Given the description of an element on the screen output the (x, y) to click on. 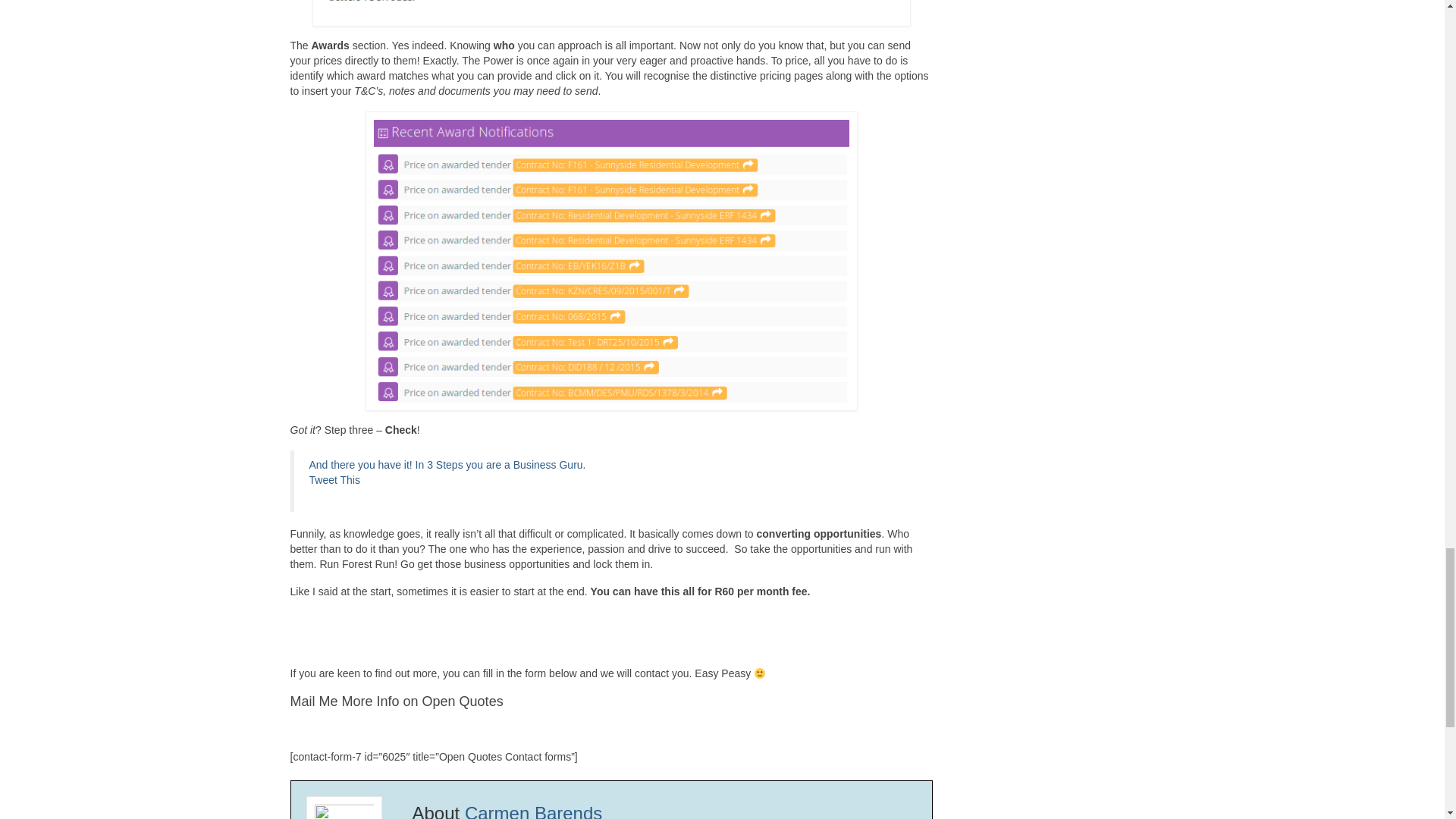
Carmen Barends (533, 811)
Tweet This (333, 480)
And there you have it! In 3 Steps you are a Business Guru. (447, 464)
Carmen Barends (533, 811)
